Given the description of an element on the screen output the (x, y) to click on. 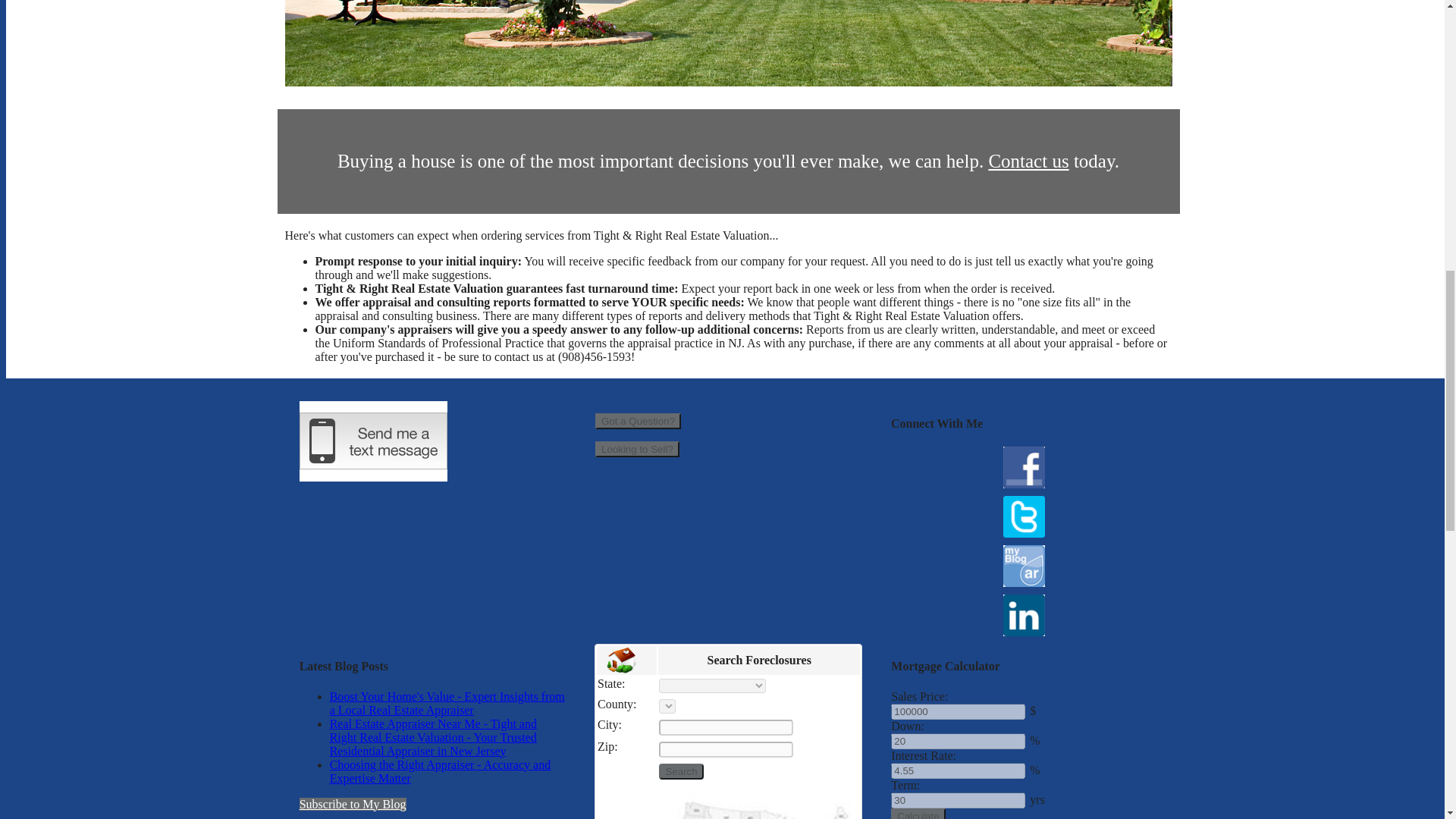
100000 (958, 711)
20 (958, 741)
4.55 (958, 770)
Twitter (1024, 516)
Facebook (1024, 467)
Choosing the Right Appraiser - Accuracy and Expertise Matter (440, 771)
Search (681, 771)
Got a Question? (638, 421)
Calculate (917, 813)
Subscribe to My Blog (352, 803)
LinkedIn (1024, 615)
ActiveRain (1024, 566)
30 (958, 800)
Looking to Sell? (637, 449)
